Given the description of an element on the screen output the (x, y) to click on. 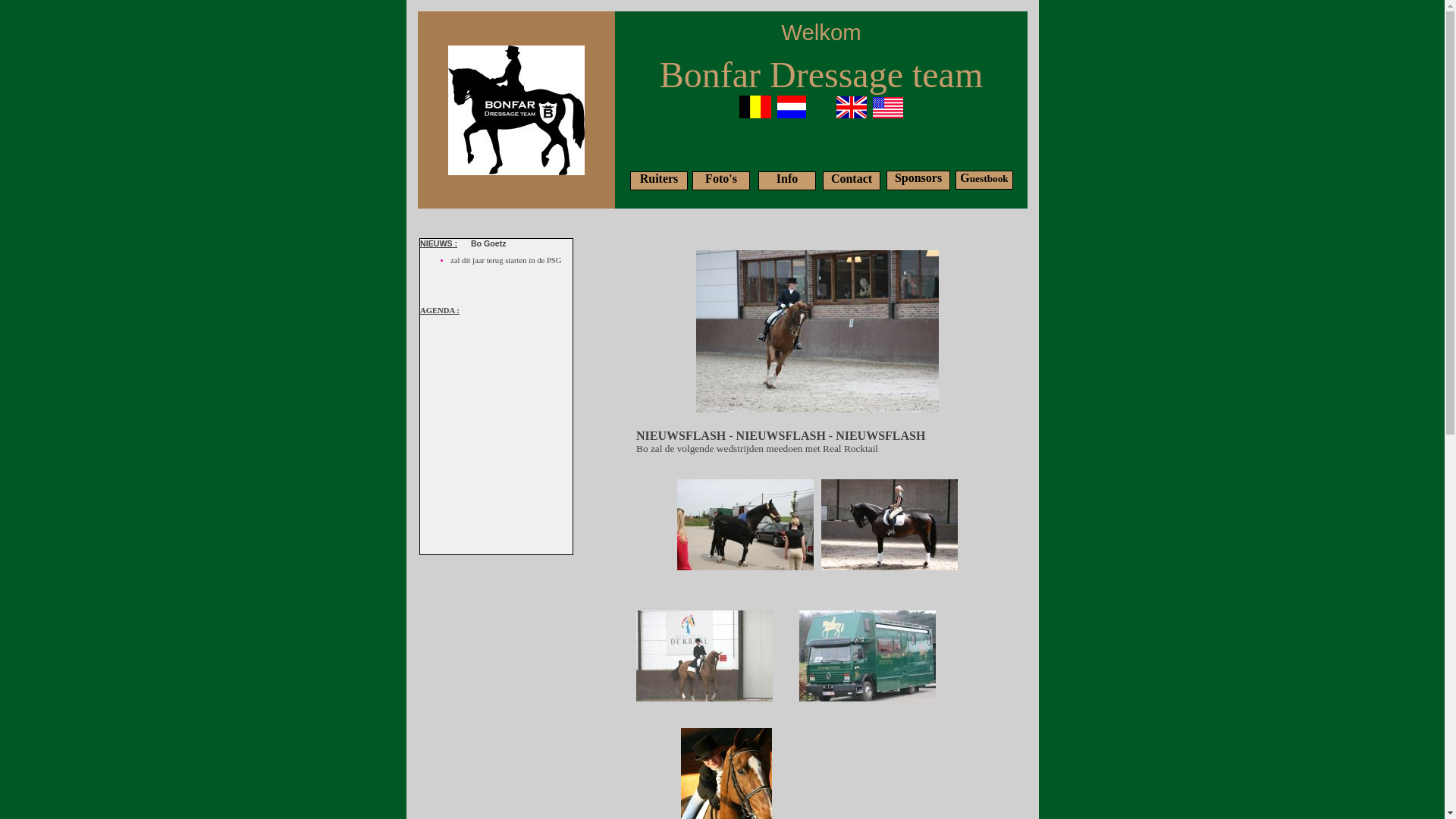
Ruiters Element type: text (659, 178)
Contact Element type: text (851, 178)
  Element type: text (869, 109)
Sponsors Element type: text (917, 177)
Guestbook Element type: text (984, 177)
Foto's Element type: text (721, 178)
  Element type: text (772, 109)
Info Element type: text (786, 178)
